Given the description of an element on the screen output the (x, y) to click on. 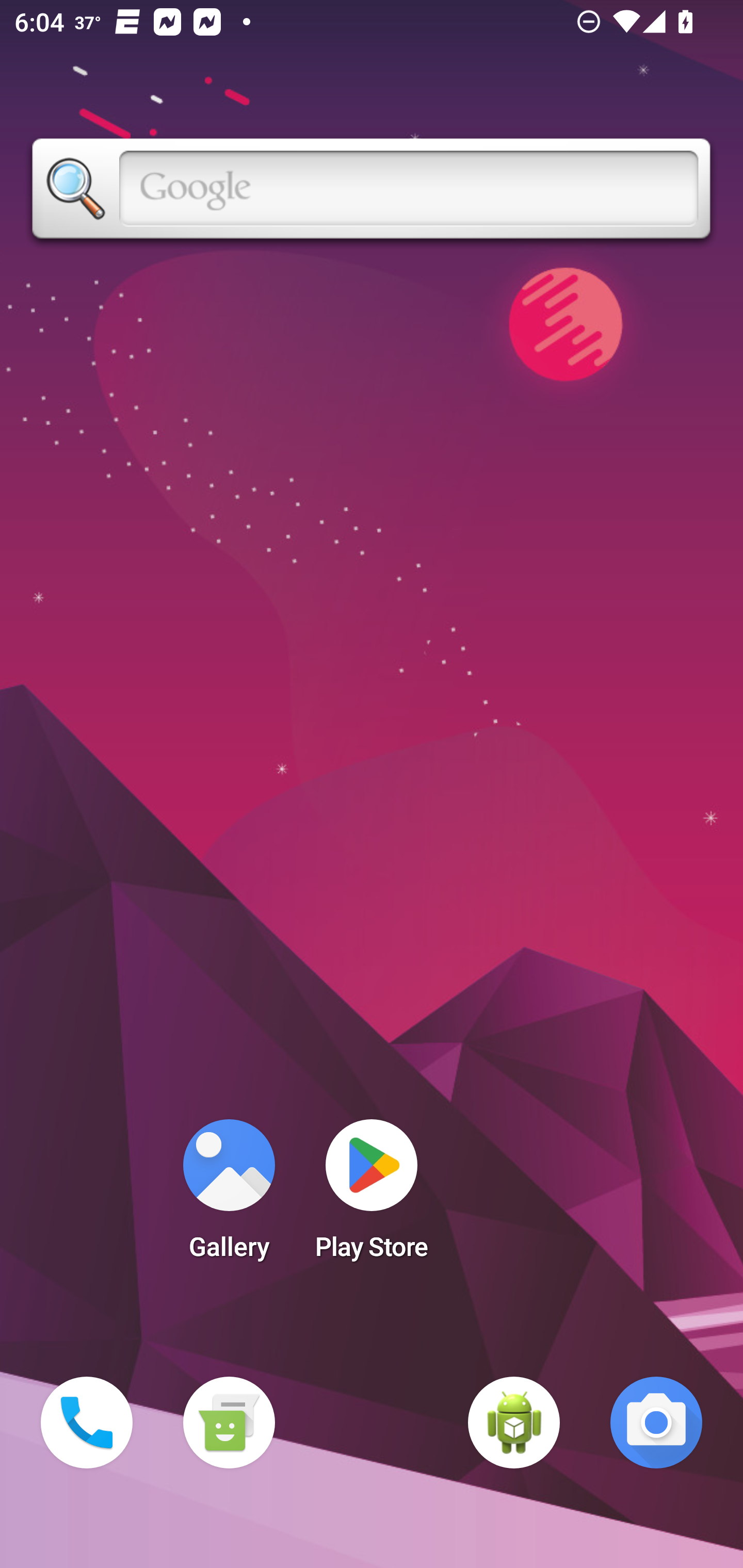
Gallery (228, 1195)
Play Store (371, 1195)
Phone (86, 1422)
Messaging (228, 1422)
WebView Browser Tester (513, 1422)
Camera (656, 1422)
